Given the description of an element on the screen output the (x, y) to click on. 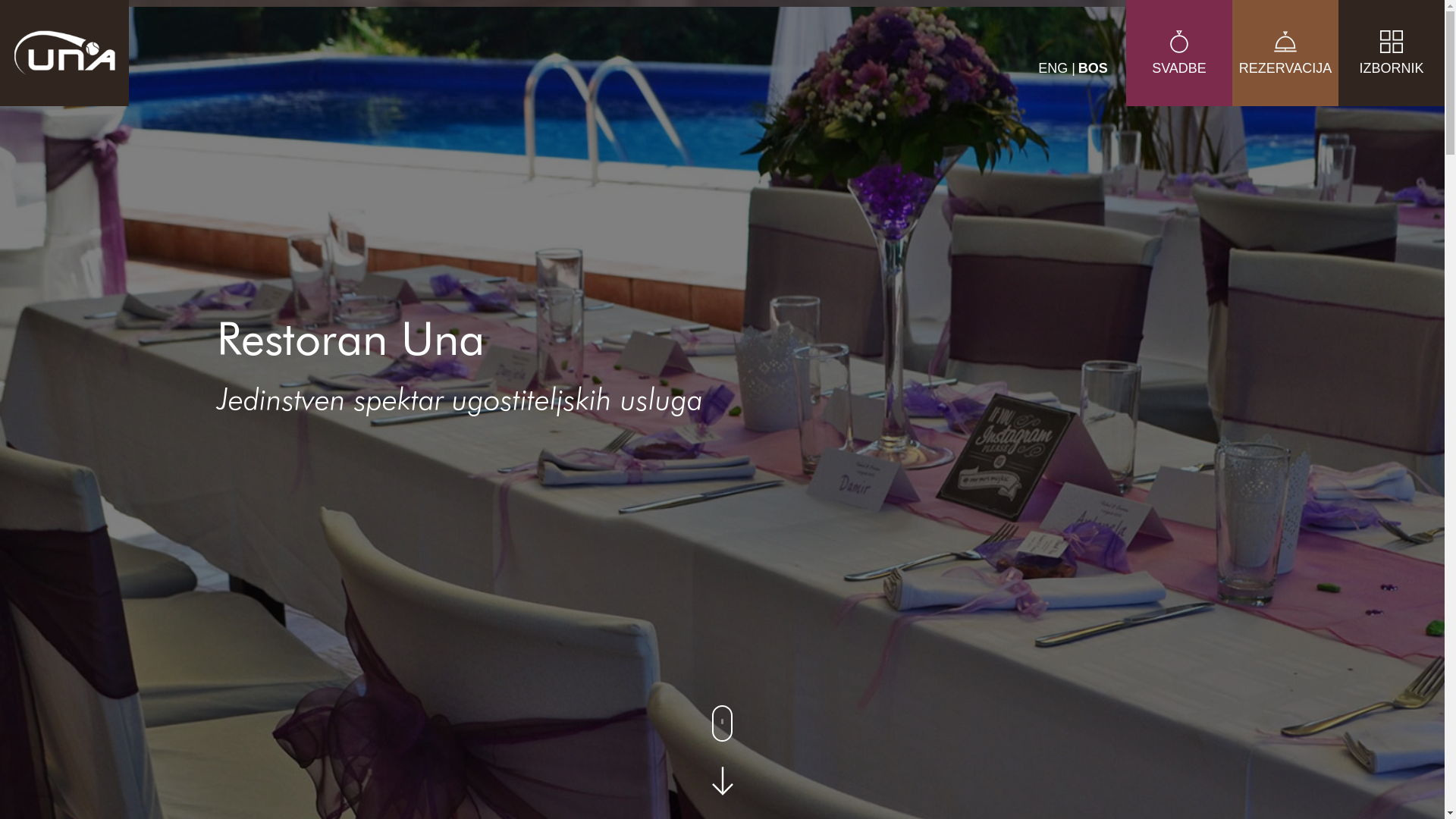
ENG Element type: text (1054, 67)
BOS Element type: text (1092, 67)
IZBORNIK Element type: text (1391, 53)
IZBORNIK Element type: text (1391, 75)
| Element type: text (1073, 67)
